Given the description of an element on the screen output the (x, y) to click on. 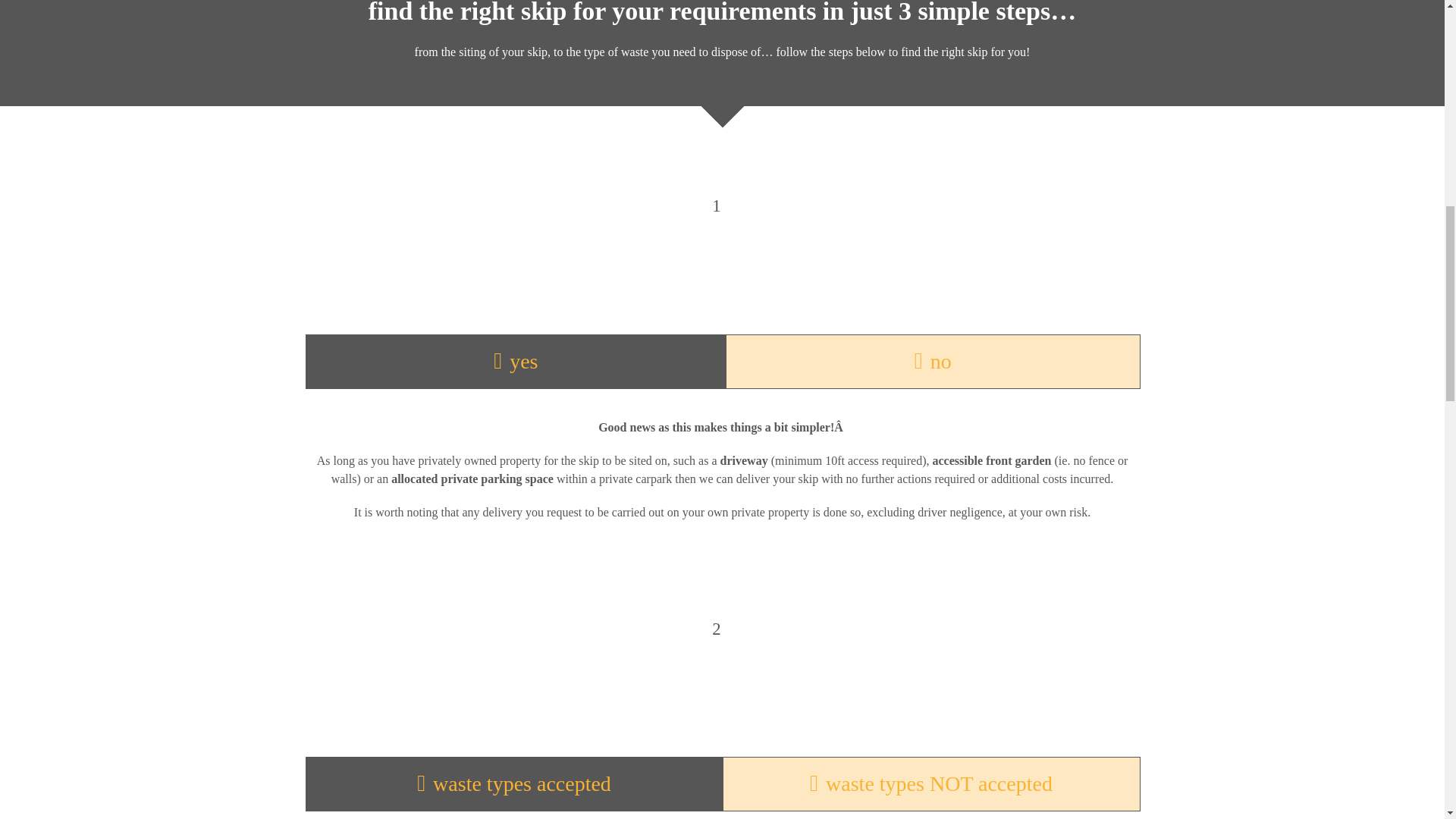
waste types NOT accepted (931, 783)
yes (515, 361)
waste types accepted (513, 783)
no (932, 361)
